Given the description of an element on the screen output the (x, y) to click on. 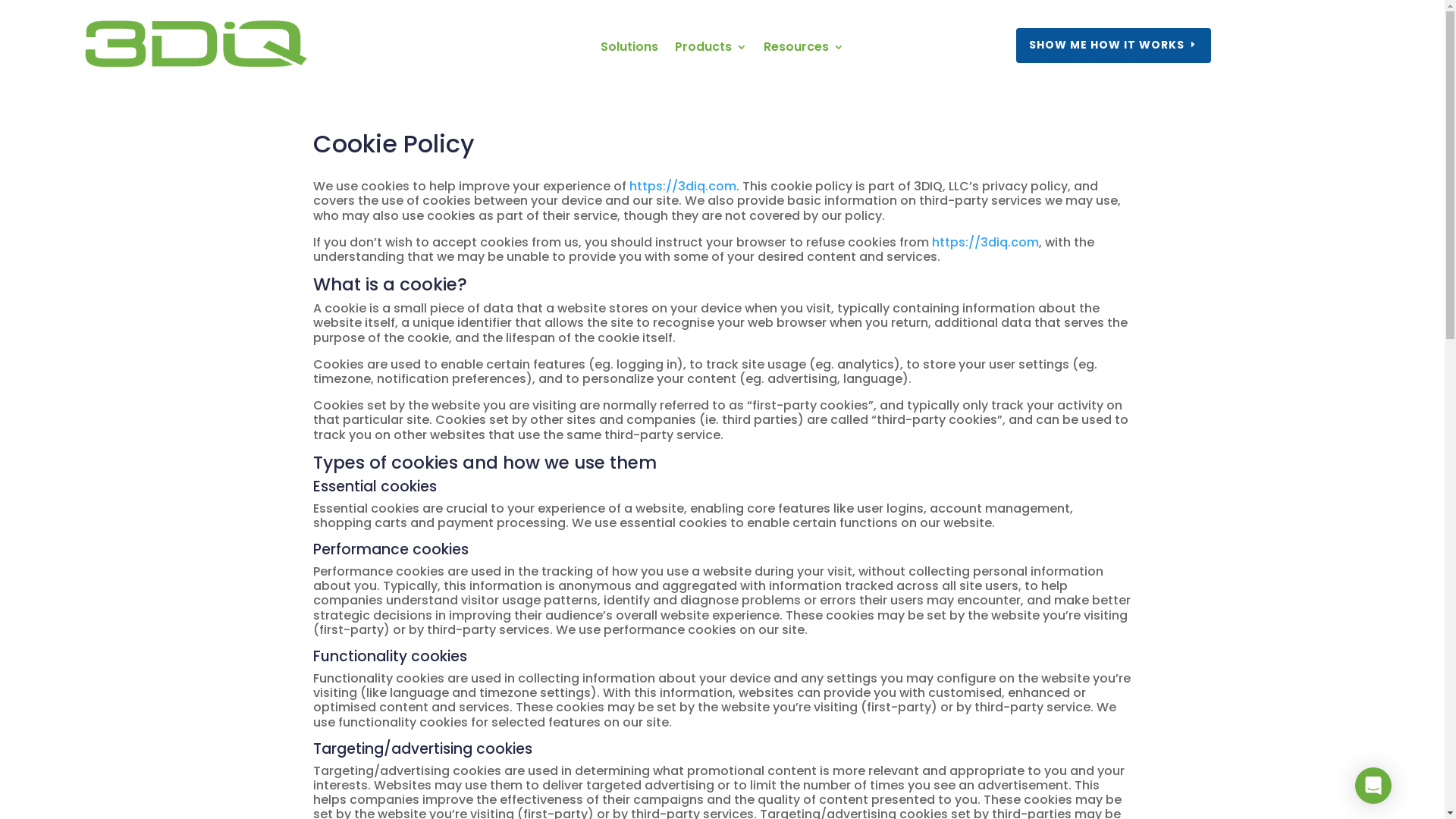
Resources Element type: text (803, 49)
3DIQ-Logo-w-tag-white Element type: hover (194, 49)
SHOW ME HOW IT WORKS Element type: text (1113, 45)
https://3diq.com Element type: text (984, 242)
Products Element type: text (710, 49)
Solutions Element type: text (629, 49)
https://3diq.com Element type: text (682, 185)
